Given the description of an element on the screen output the (x, y) to click on. 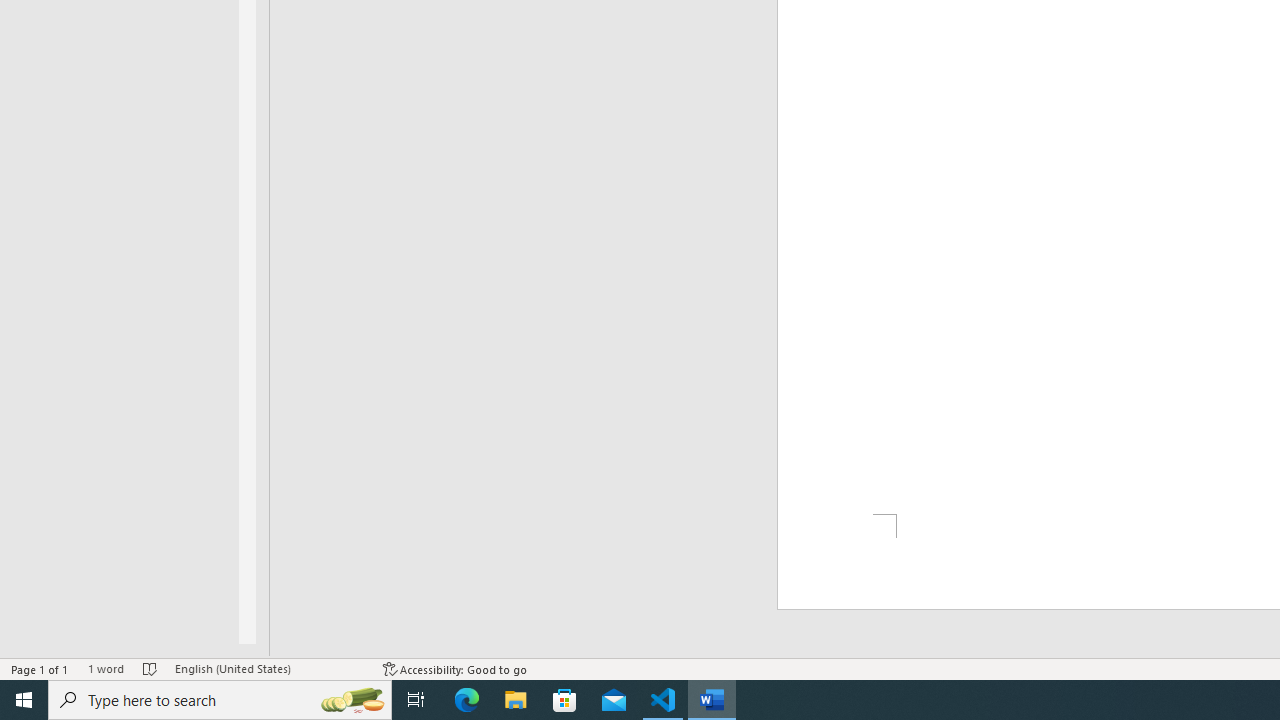
Accessibility Checker Accessibility: Good to go (455, 668)
Language English (United States) (269, 668)
Page Number Page 1 of 1 (39, 668)
Spelling and Grammar Check No Errors (150, 668)
